Given the description of an element on the screen output the (x, y) to click on. 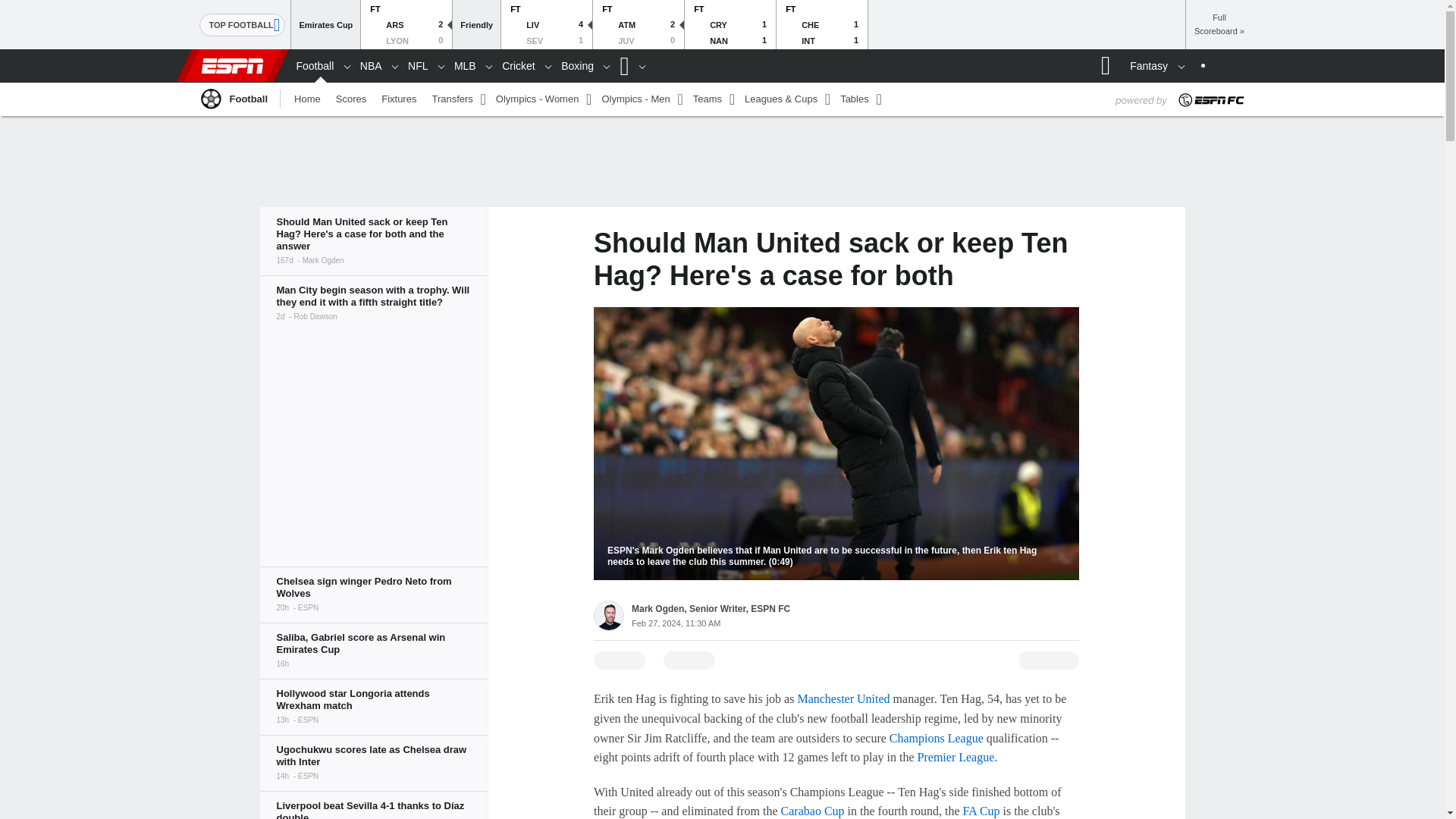
ESPN Video (836, 443)
Football (209, 97)
TOP FOOTBALL (241, 24)
